Given the description of an element on the screen output the (x, y) to click on. 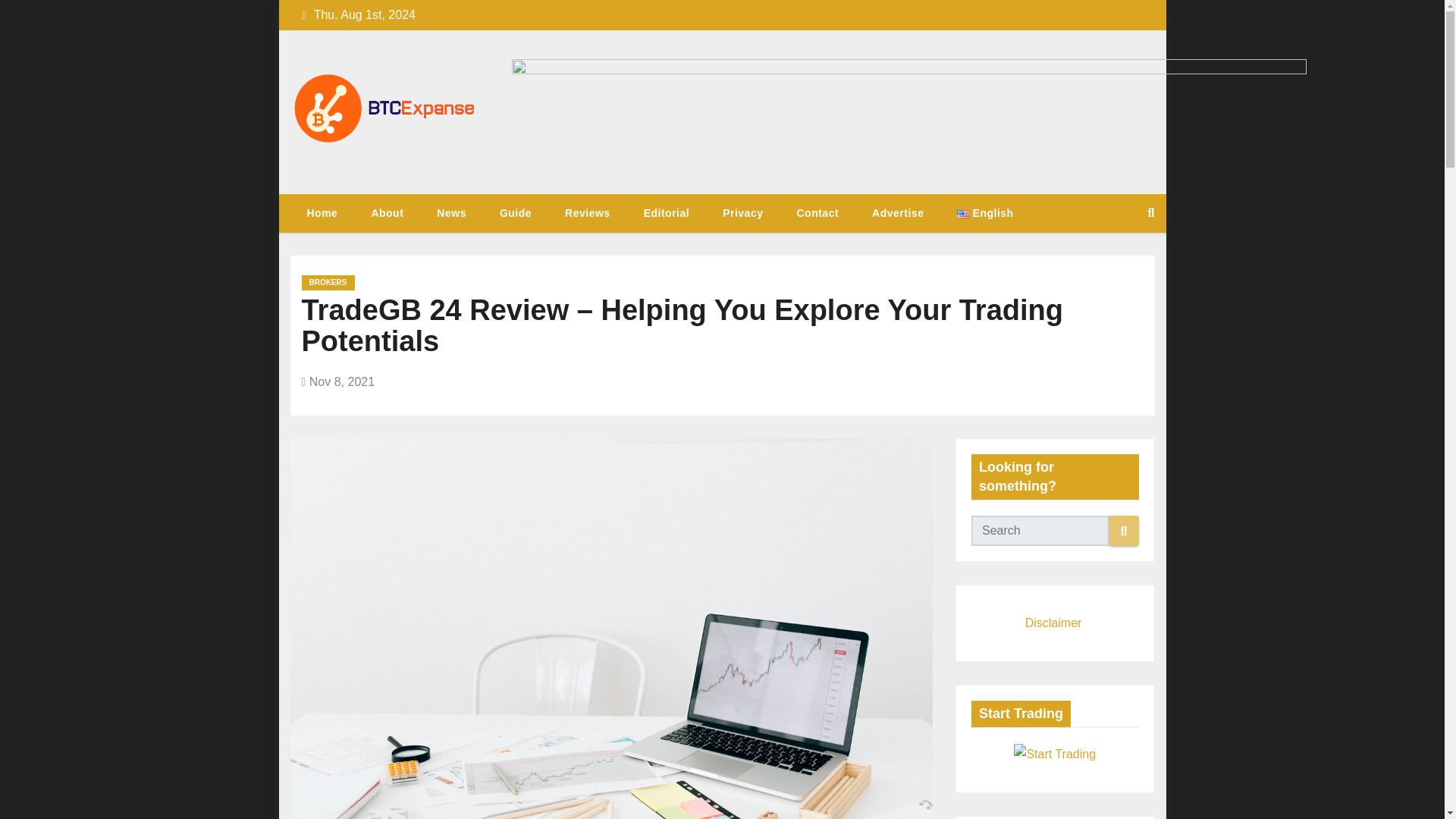
News (451, 213)
Reviews (587, 213)
Home (321, 213)
About (386, 213)
News (451, 213)
Guide (515, 213)
Editorial (666, 213)
Privacy (742, 213)
Guide (515, 213)
Advertise (898, 213)
Contact (817, 213)
About (386, 213)
Home (321, 213)
